Given the description of an element on the screen output the (x, y) to click on. 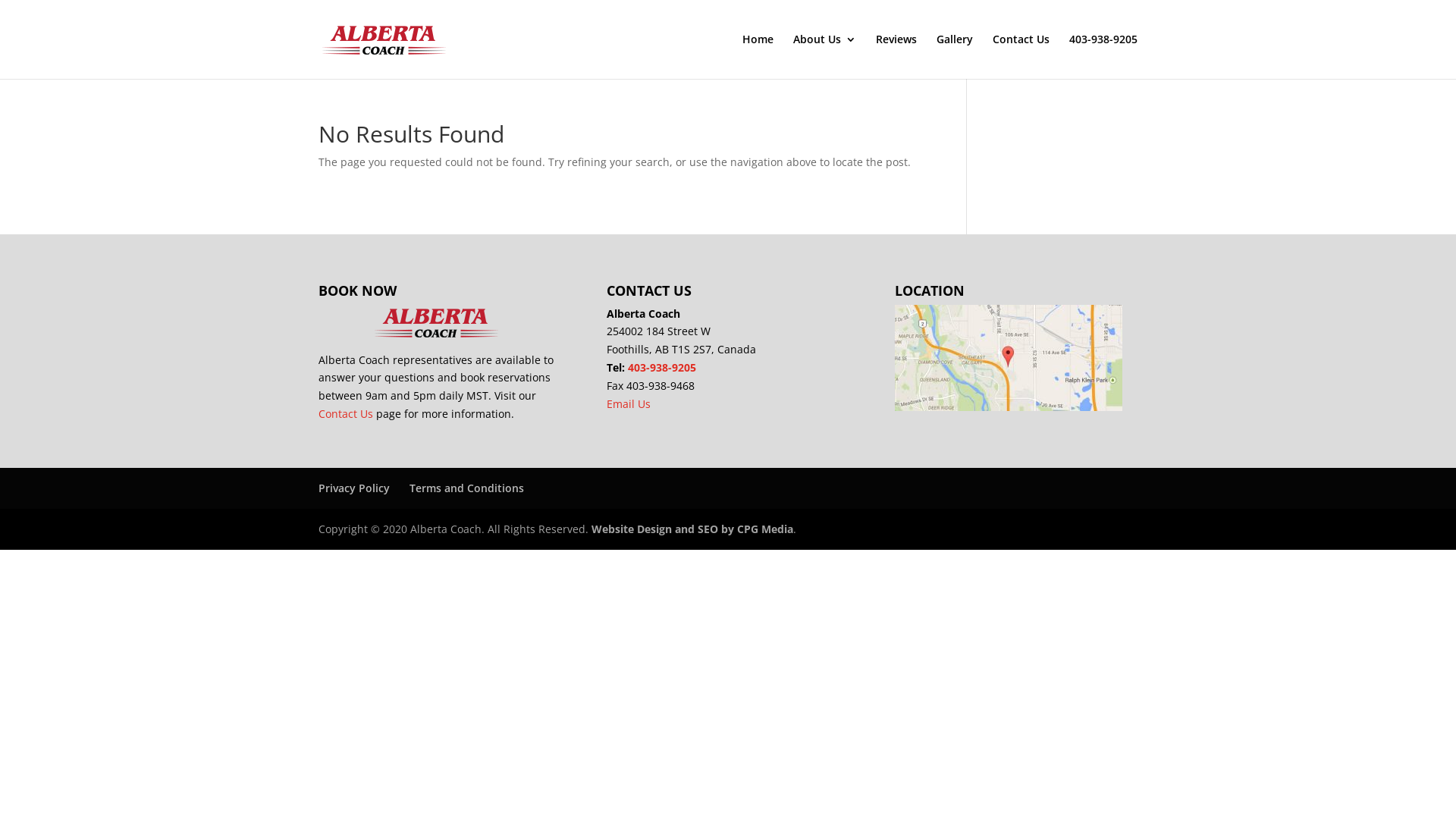
Gallery Element type: text (954, 56)
About Us Element type: text (824, 56)
Reviews Element type: text (895, 56)
Home Element type: text (757, 56)
Website Design and SEO by CPG Media Element type: text (692, 528)
Privacy Policy Element type: text (353, 487)
403-938-9205 Element type: text (661, 367)
Email Us Element type: text (628, 403)
Contact Us Element type: text (345, 413)
Contact Us Element type: text (1020, 56)
Terms and Conditions Element type: text (466, 487)
403-938-9205 Element type: text (1103, 56)
